Given the description of an element on the screen output the (x, y) to click on. 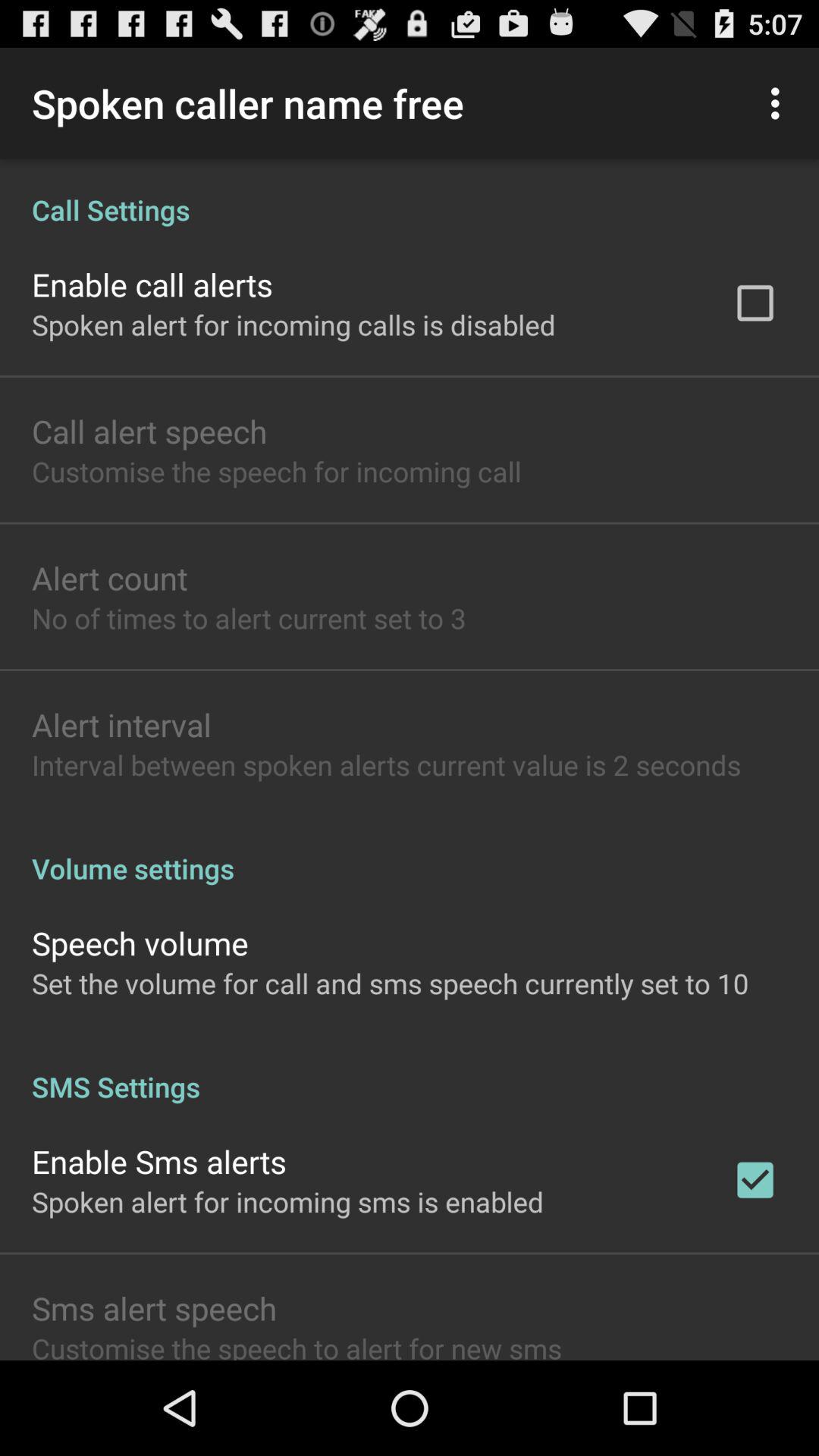
turn off the item below the set the volume item (409, 1070)
